Given the description of an element on the screen output the (x, y) to click on. 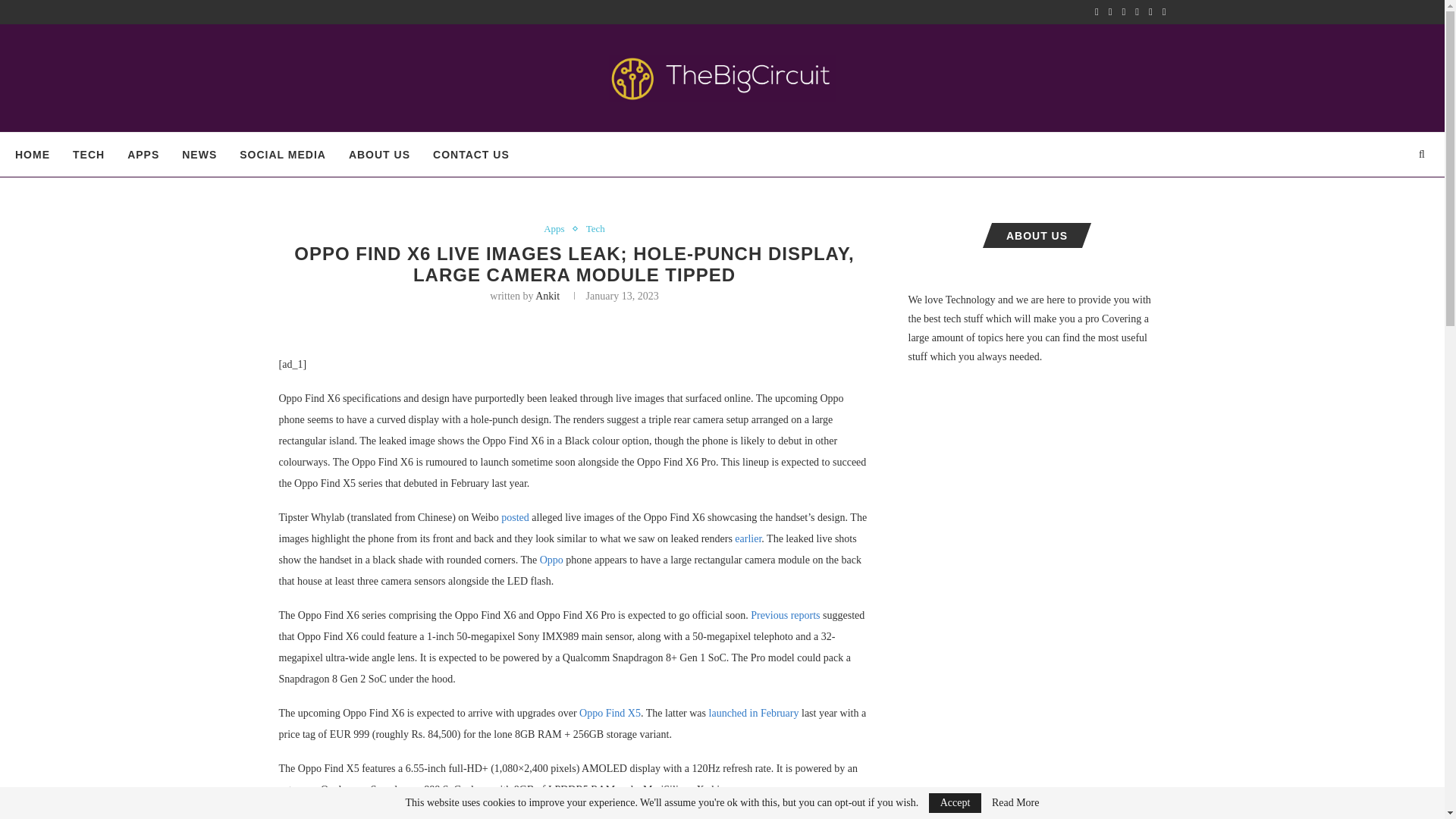
Tech (595, 228)
Ankit (547, 296)
Oppo (551, 559)
CONTACT US (470, 154)
earlier (748, 538)
Apps (557, 228)
ABOUT US (379, 154)
Previous reports (785, 614)
posted (514, 517)
SOCIAL MEDIA (283, 154)
